Given the description of an element on the screen output the (x, y) to click on. 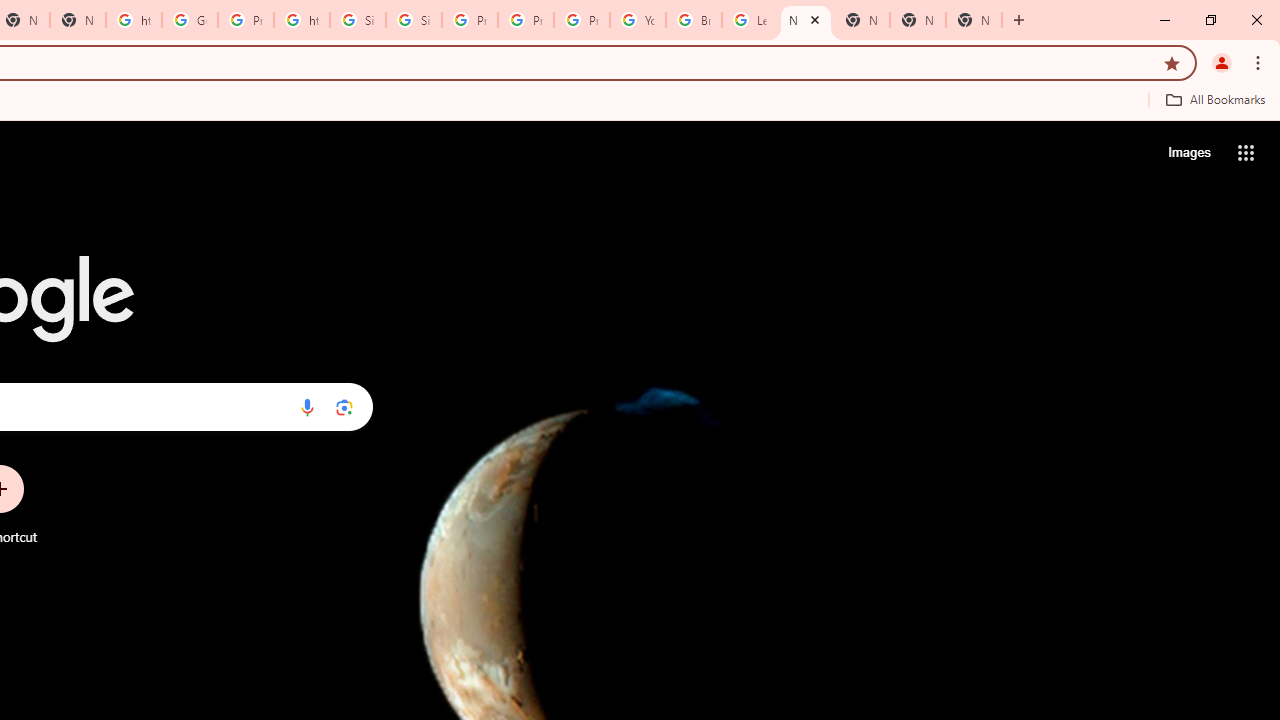
Privacy Help Center - Policies Help (469, 20)
YouTube (637, 20)
Sign in - Google Accounts (413, 20)
Sign in - Google Accounts (358, 20)
